Given the description of an element on the screen output the (x, y) to click on. 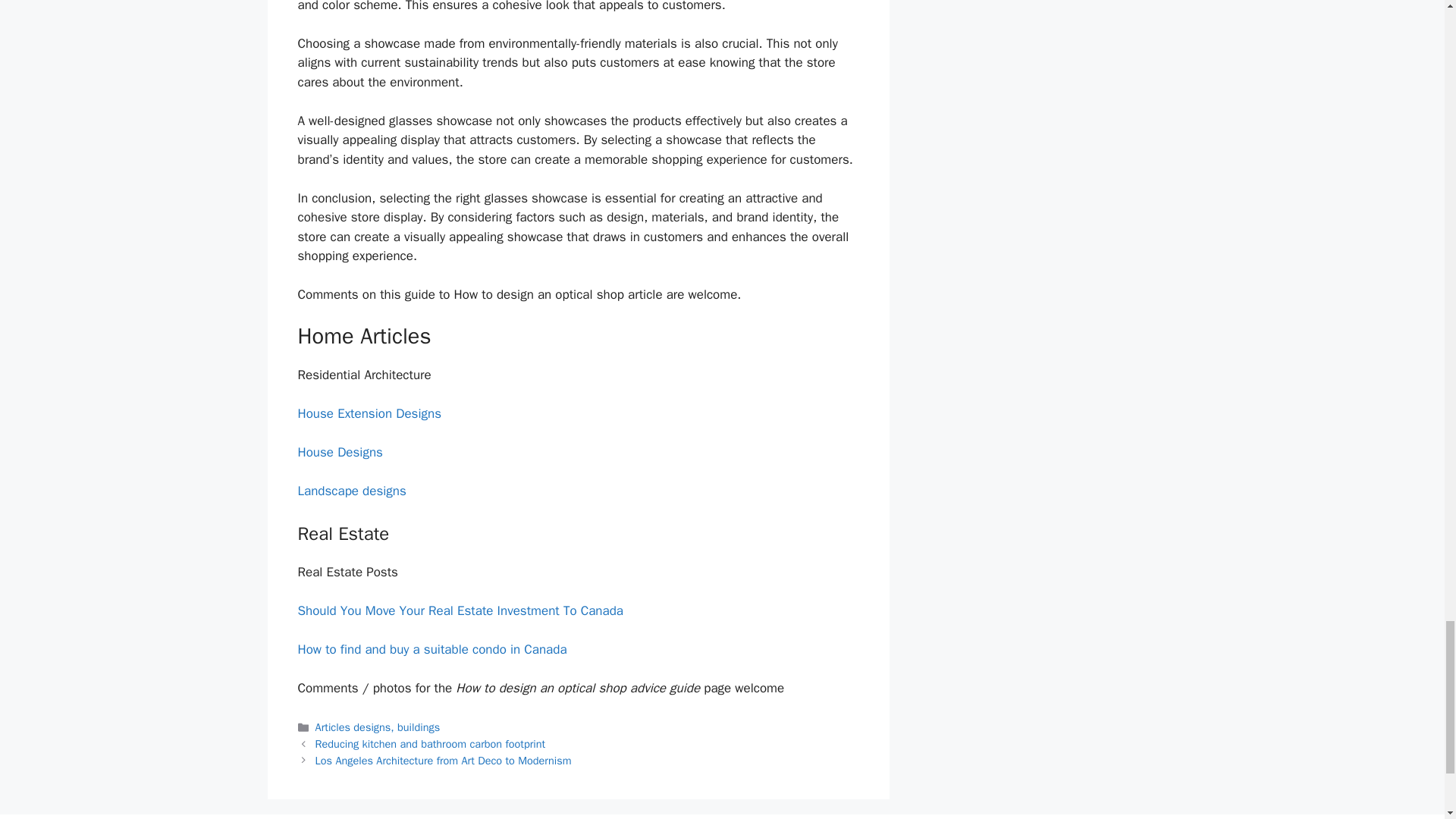
House Designs (339, 452)
Reducing kitchen and bathroom carbon footprint (430, 744)
Should You Move Your Real Estate Investment To Canada (460, 610)
Landscape designs (351, 490)
House Extension Designs (369, 413)
How to find and buy a suitable condo in Canada (431, 649)
Articles designs, buildings (378, 726)
Los Angeles Architecture from Art Deco to Modernism (443, 760)
